Given the description of an element on the screen output the (x, y) to click on. 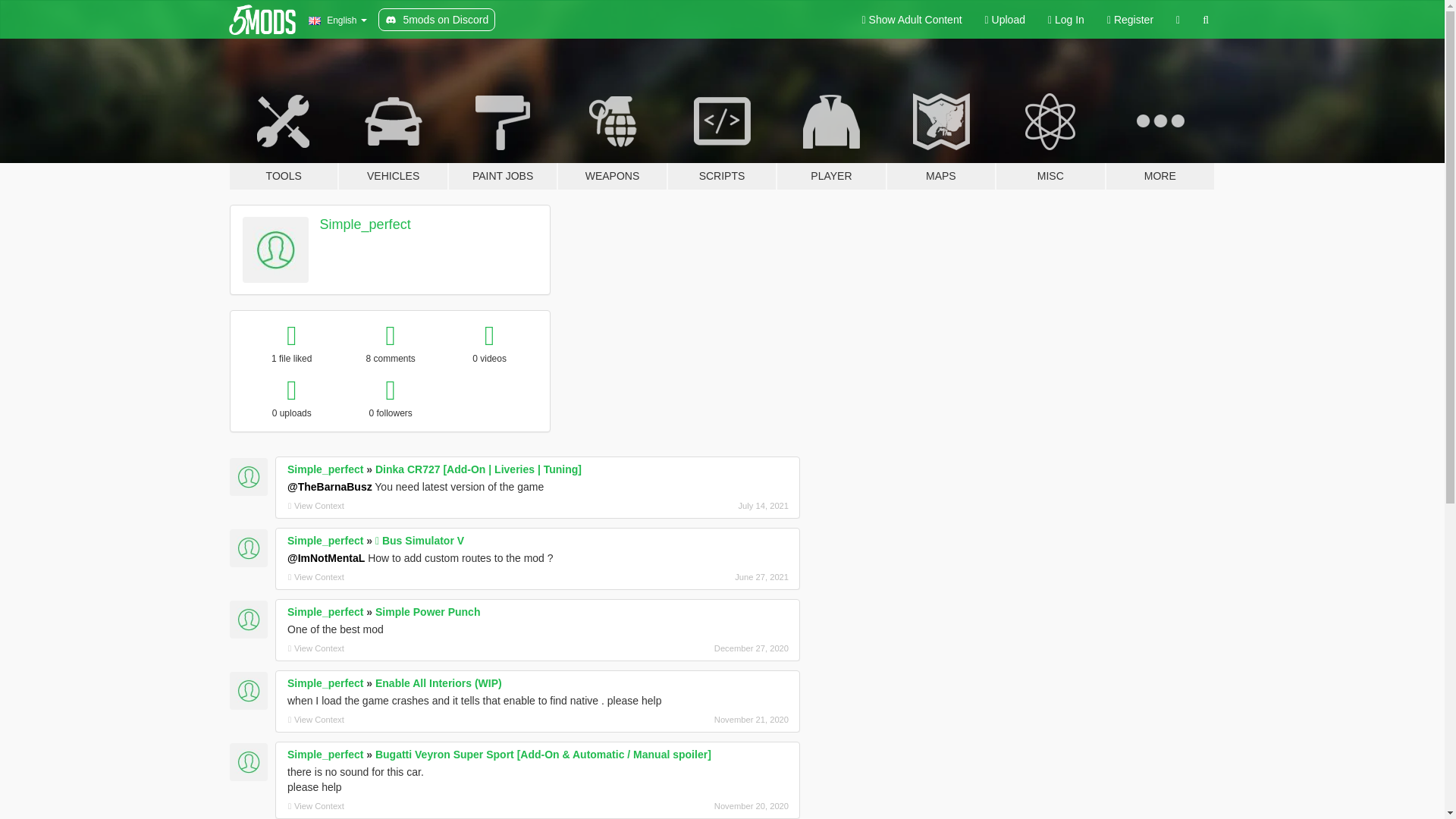
5mods on Discord (436, 19)
Log In (1066, 19)
Upload (1005, 19)
Register (1130, 19)
Show Adult Content (912, 19)
  English (337, 19)
Light mode (912, 19)
